Given the description of an element on the screen output the (x, y) to click on. 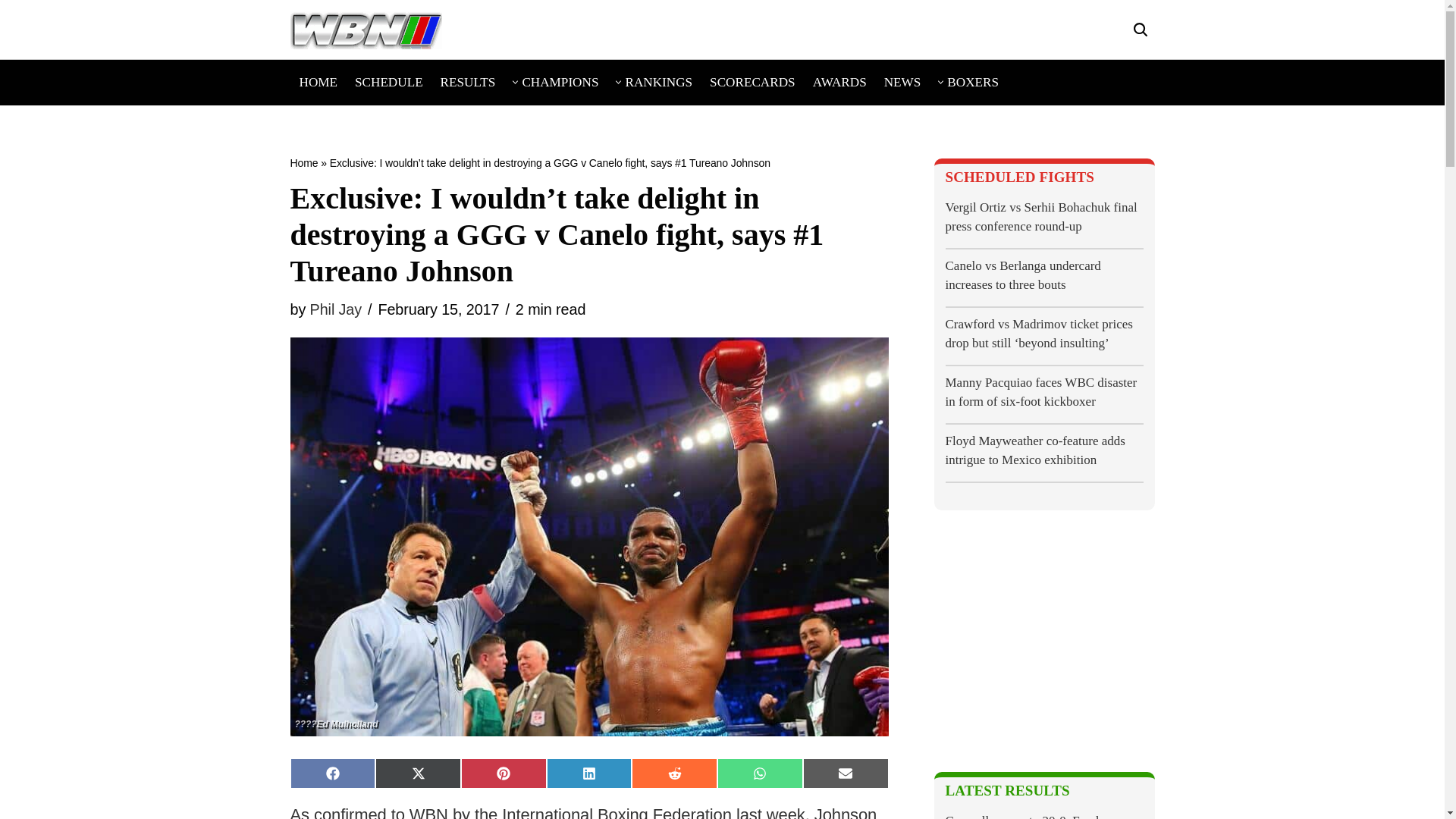
SCORECARDS (752, 81)
BOXERS (972, 81)
NEWS (902, 81)
Posts by Phil Jay (335, 309)
AWARDS (839, 81)
RANKINGS (658, 81)
Skip to content (11, 31)
HOME (317, 81)
RESULTS (468, 81)
SCHEDULE (389, 81)
